Given the description of an element on the screen output the (x, y) to click on. 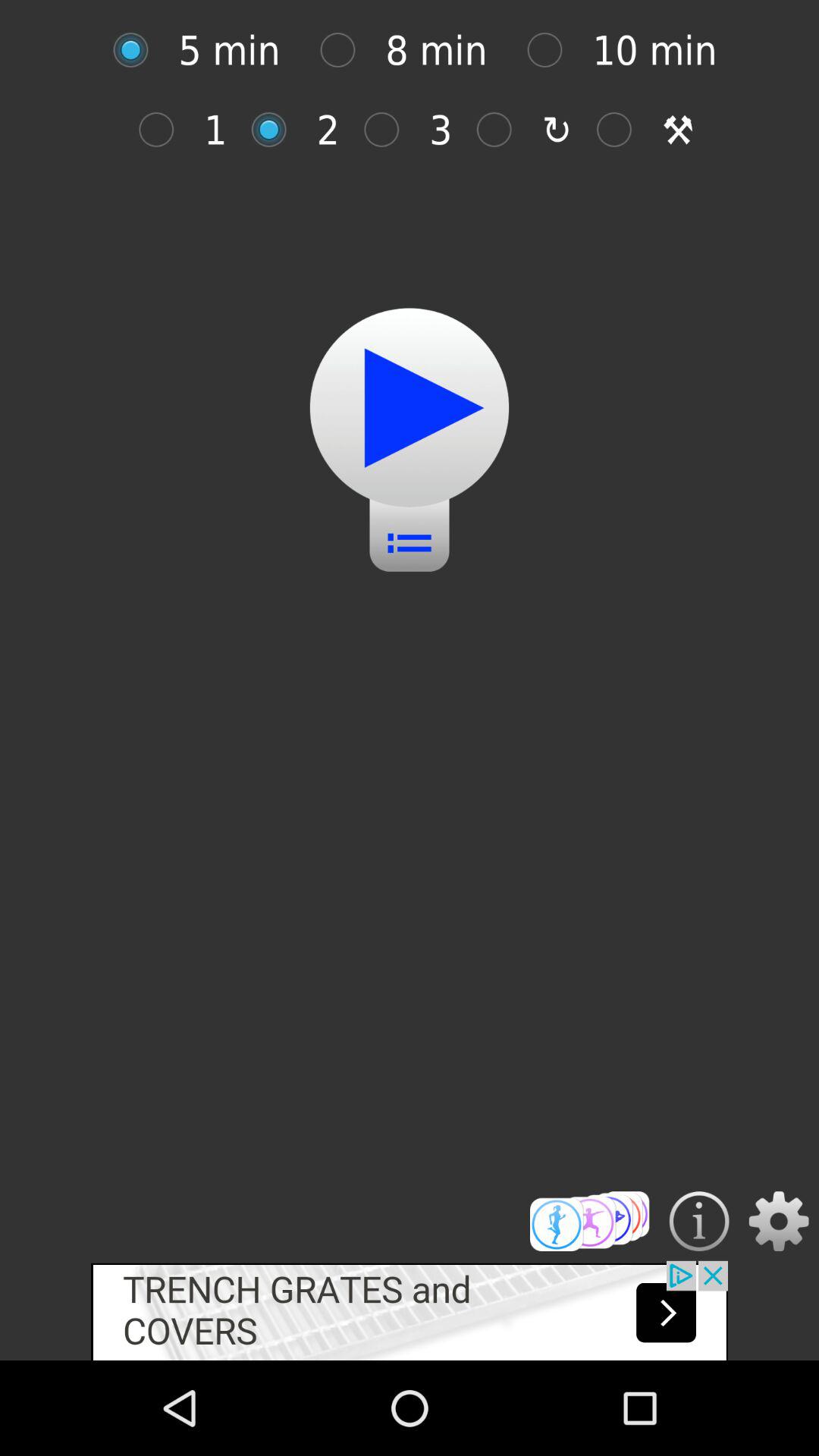
go to settings (778, 1221)
